Given the description of an element on the screen output the (x, y) to click on. 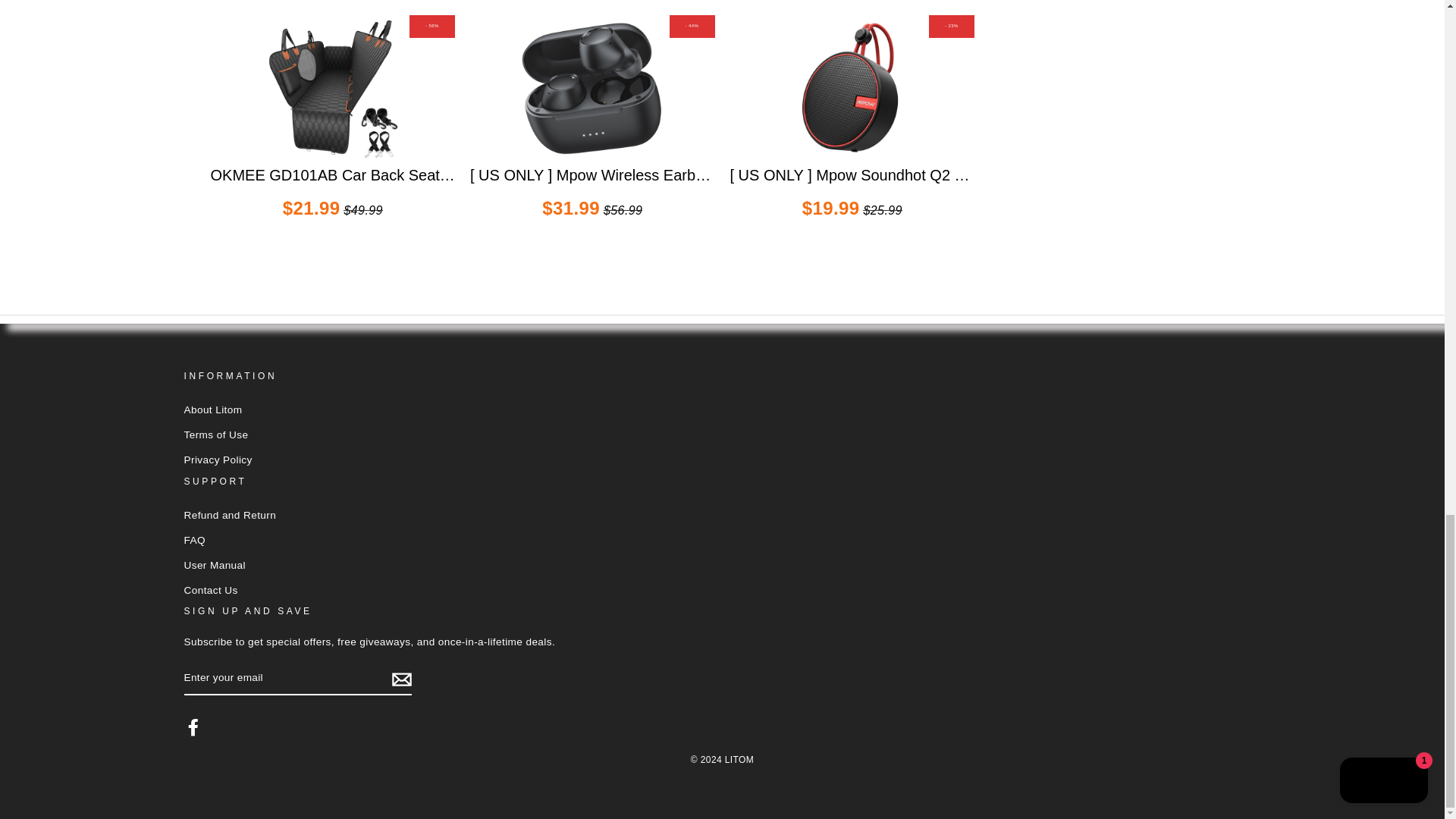
LITOM on Facebook (192, 727)
